Given the description of an element on the screen output the (x, y) to click on. 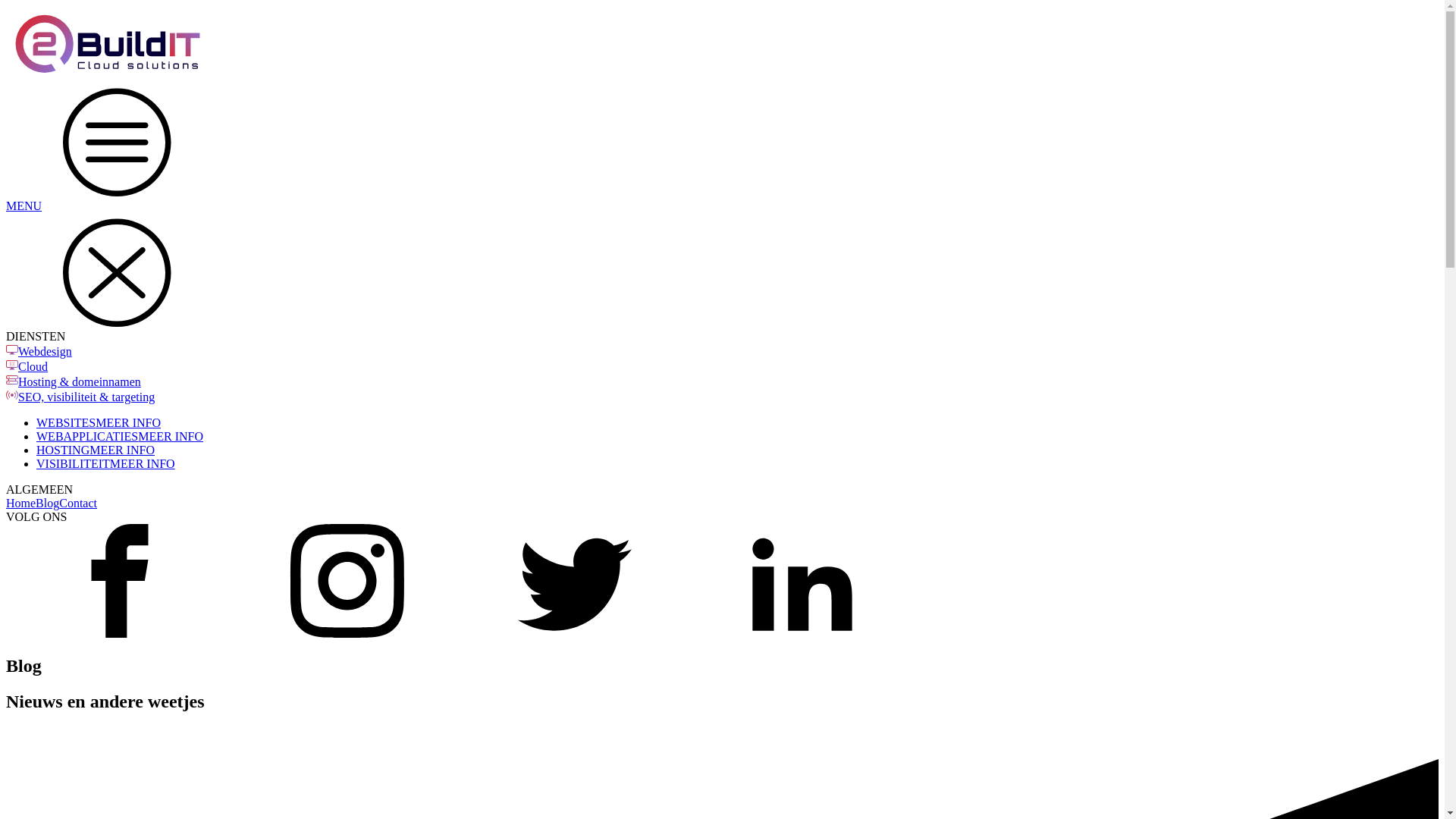
Webdesign Element type: text (45, 351)
Home Element type: text (20, 502)
Visit our Facebook Element type: text (119, 633)
SEO, visibiliteit & targeting Element type: text (86, 396)
VISIBILITEIT Element type: text (72, 463)
MEER INFO Element type: text (127, 422)
Blog Element type: text (47, 502)
WEBSITES Element type: text (65, 422)
Visit our Instagram Element type: text (347, 633)
MEER INFO Element type: text (121, 449)
WEBAPPLICATIES Element type: text (87, 435)
Cloud Element type: text (32, 366)
HOSTING Element type: text (62, 449)
MEER INFO Element type: text (142, 463)
Contact Element type: text (78, 502)
MEER INFO Element type: text (170, 435)
Visit our Twitter Element type: text (574, 633)
MENU Element type: text (722, 147)
Visit our LinkedIn Element type: text (802, 633)
Hosting & domeinnamen Element type: text (79, 381)
